Given the description of an element on the screen output the (x, y) to click on. 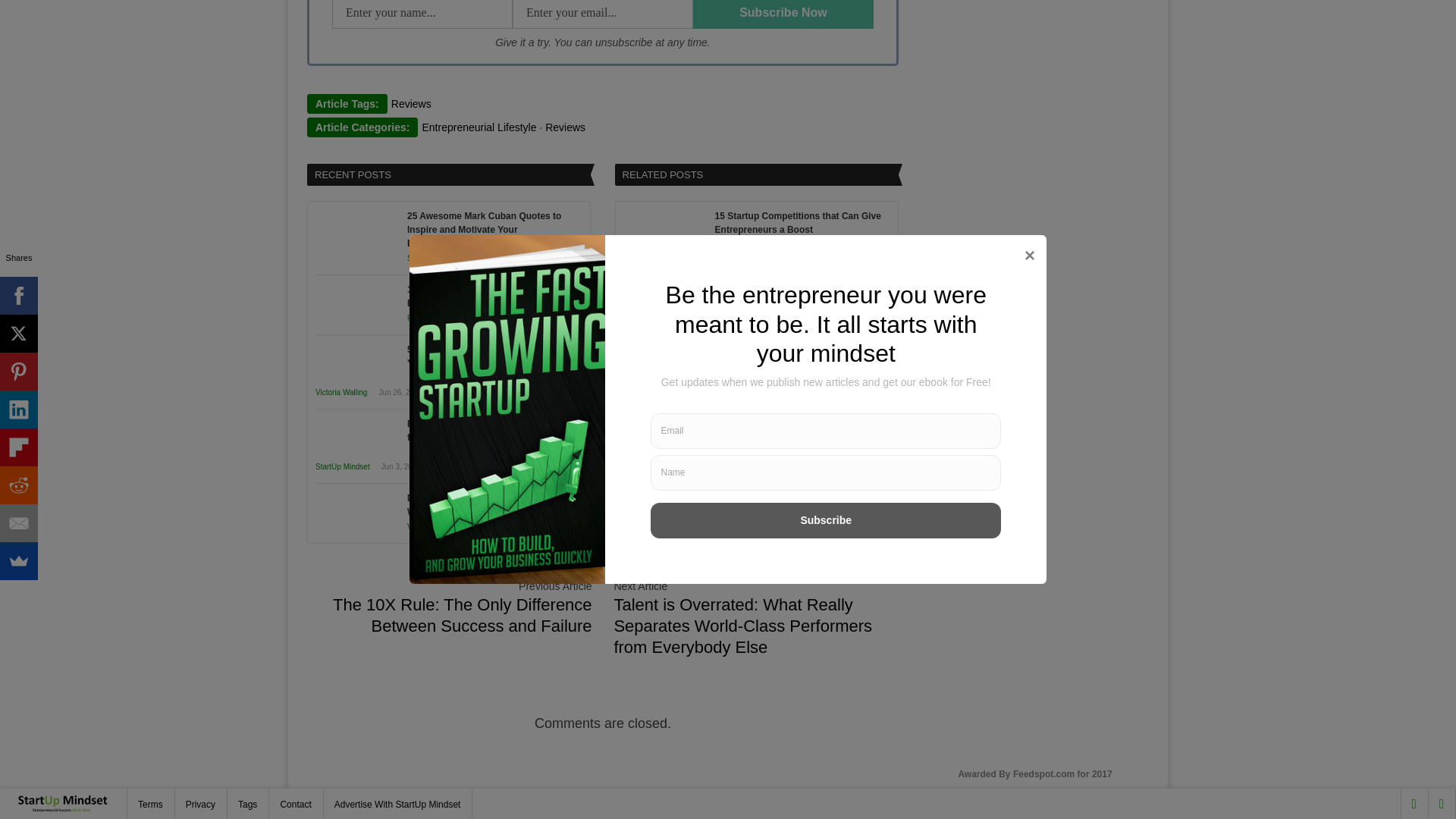
Subscribe Now (783, 14)
